Given the description of an element on the screen output the (x, y) to click on. 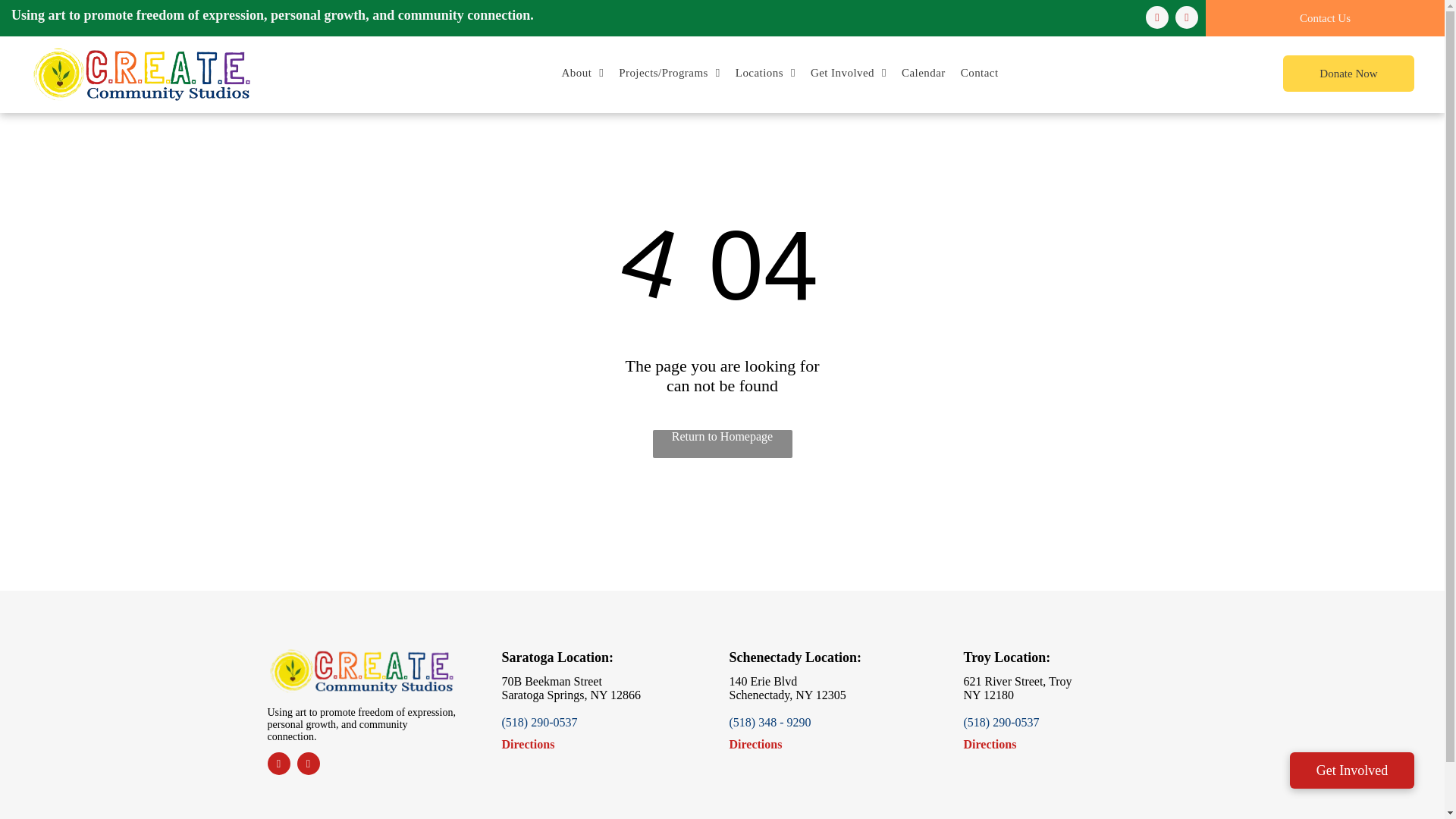
About (582, 72)
